Given the description of an element on the screen output the (x, y) to click on. 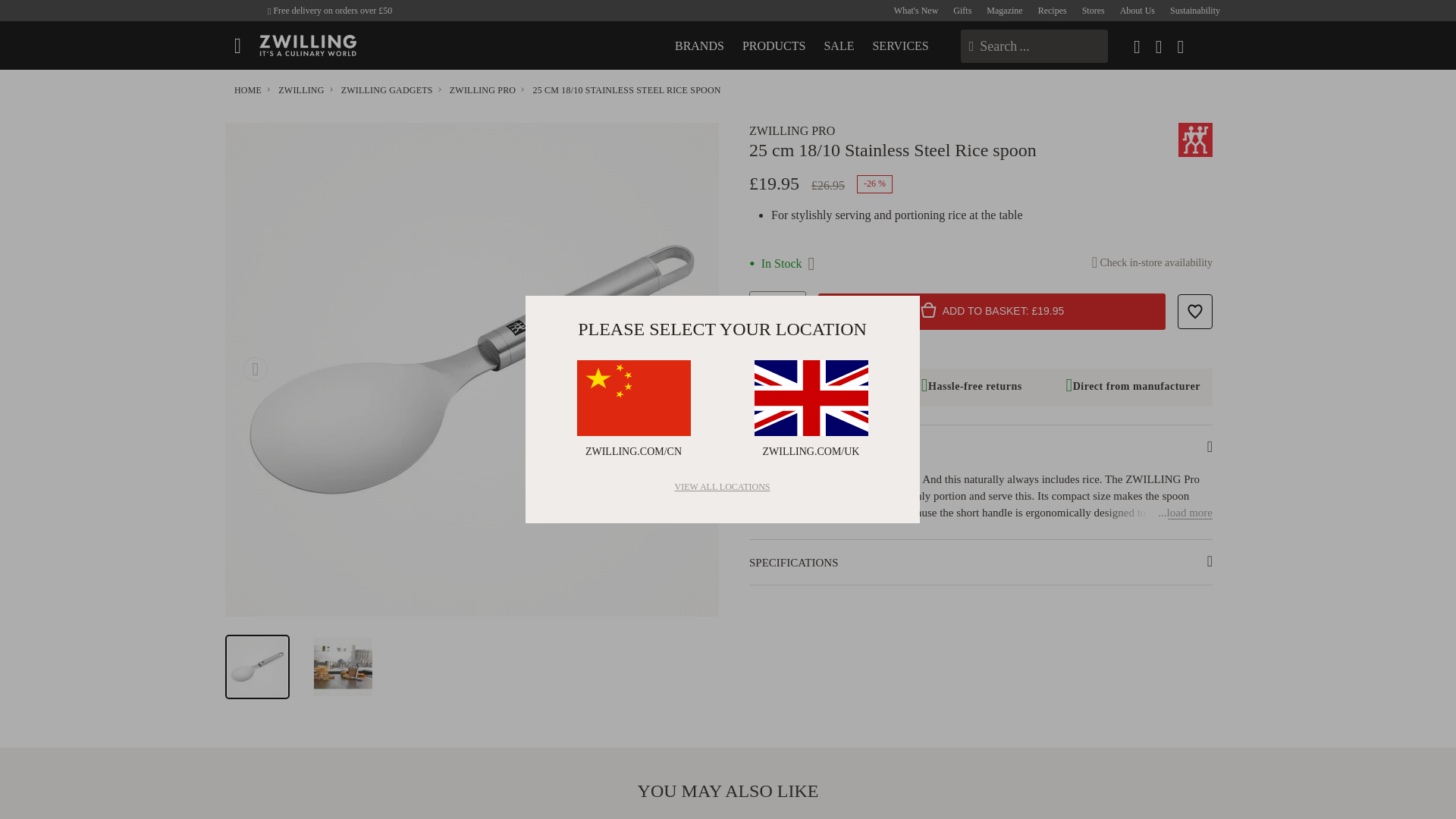
Magazine (1004, 10)
About Us (1137, 10)
Stores (1093, 10)
Zwilling (307, 45)
Recipes (1052, 10)
What's New (915, 10)
Sustainability (1195, 10)
Gifts (962, 10)
